Given the description of an element on the screen output the (x, y) to click on. 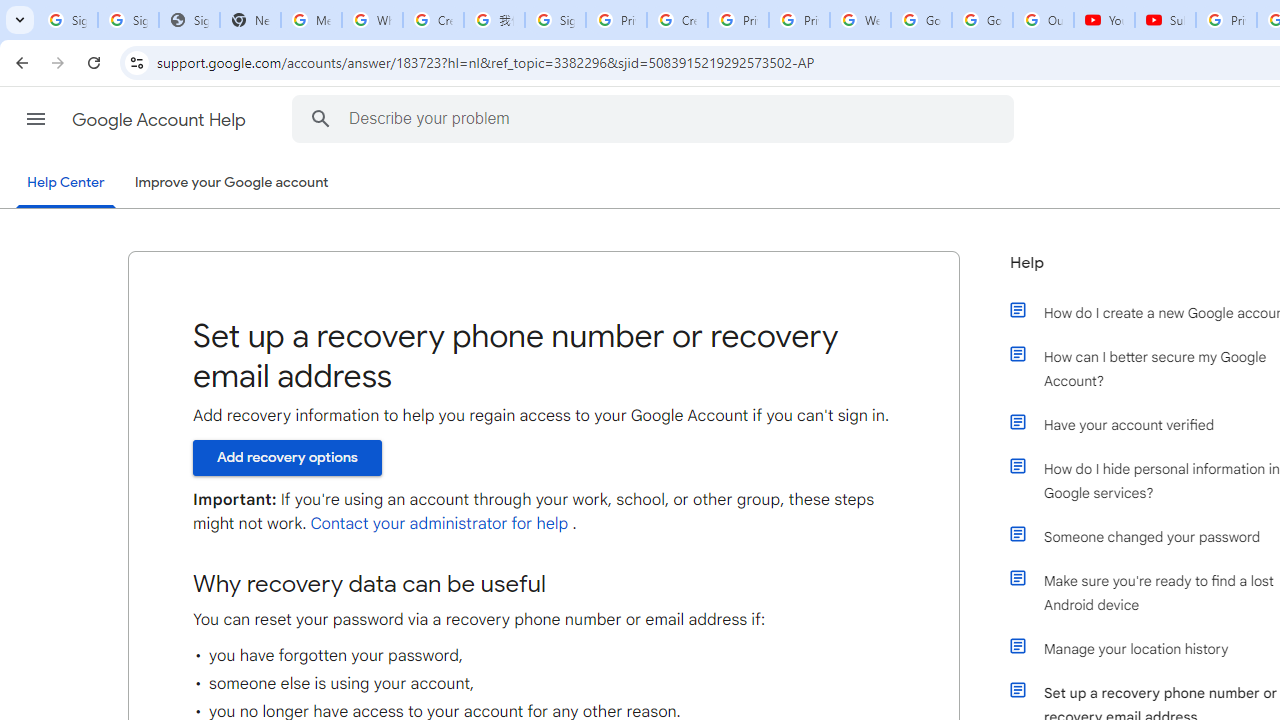
Create your Google Account (676, 20)
Google Account Help (160, 119)
Add recovery options (287, 457)
